Given the description of an element on the screen output the (x, y) to click on. 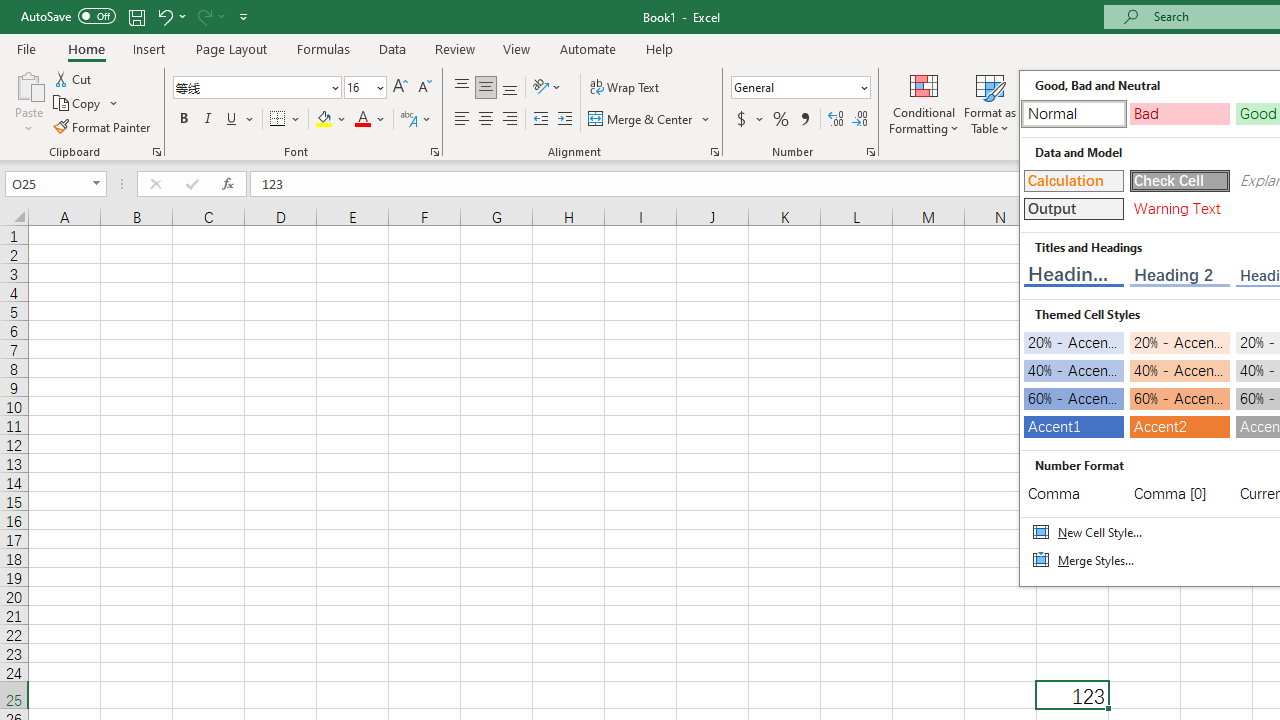
Comma Style (804, 119)
Font (250, 87)
Accounting Number Format (749, 119)
Middle Align (485, 87)
Number Format (794, 87)
Font (256, 87)
Conditional Formatting (924, 102)
Orientation (547, 87)
